Given the description of an element on the screen output the (x, y) to click on. 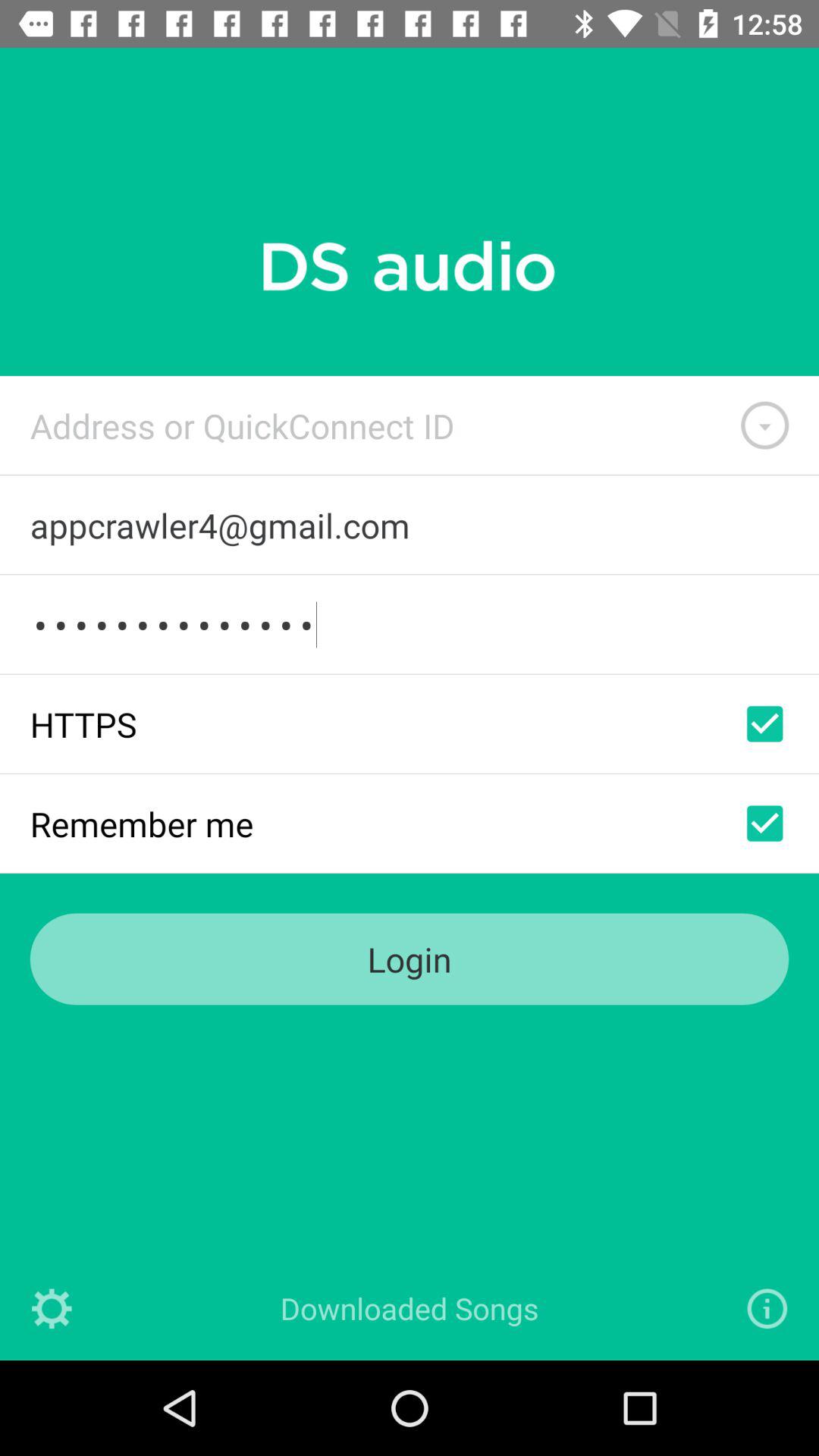
open settings (51, 1308)
